Given the description of an element on the screen output the (x, y) to click on. 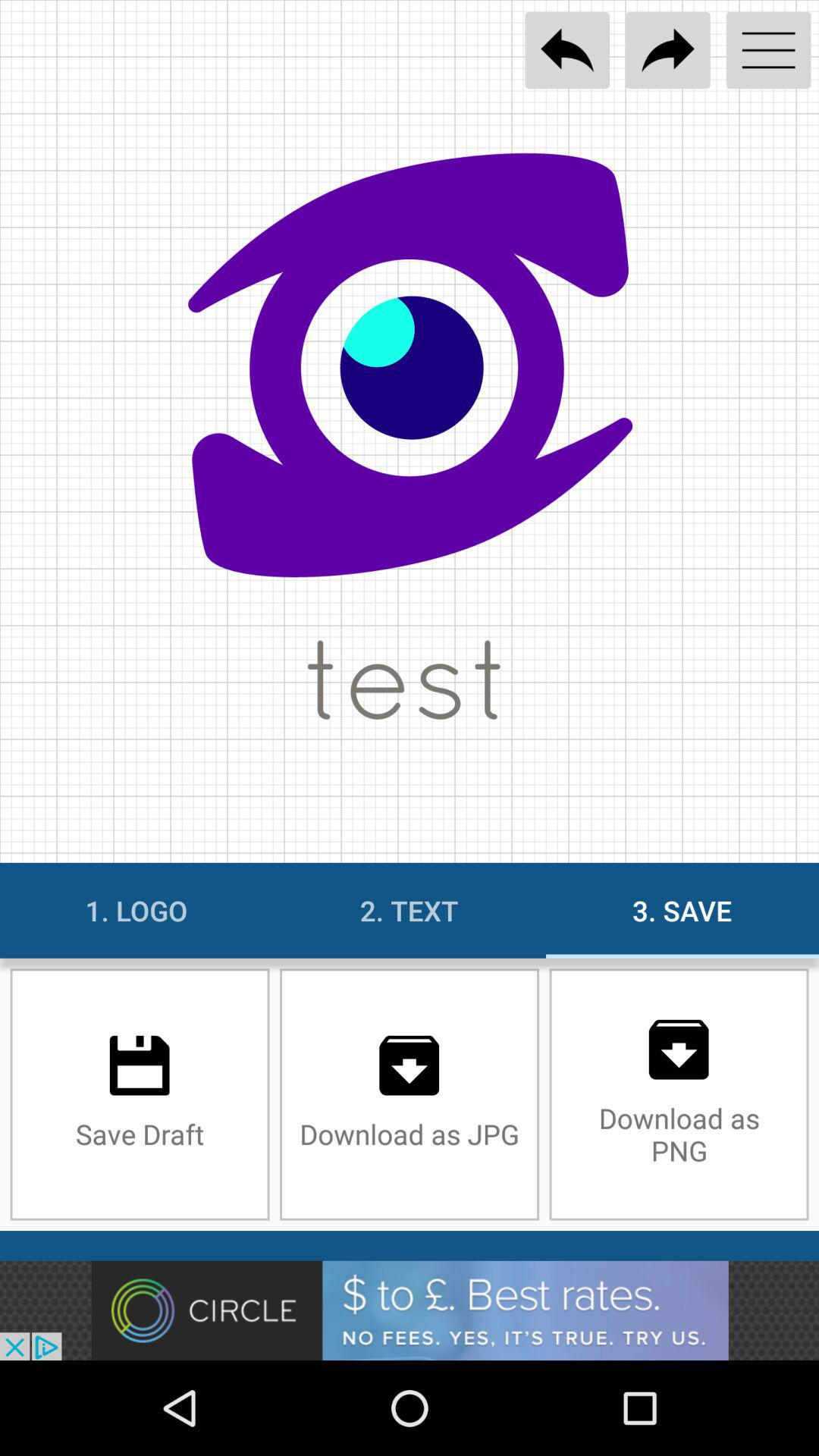
open menu (768, 50)
